Given the description of an element on the screen output the (x, y) to click on. 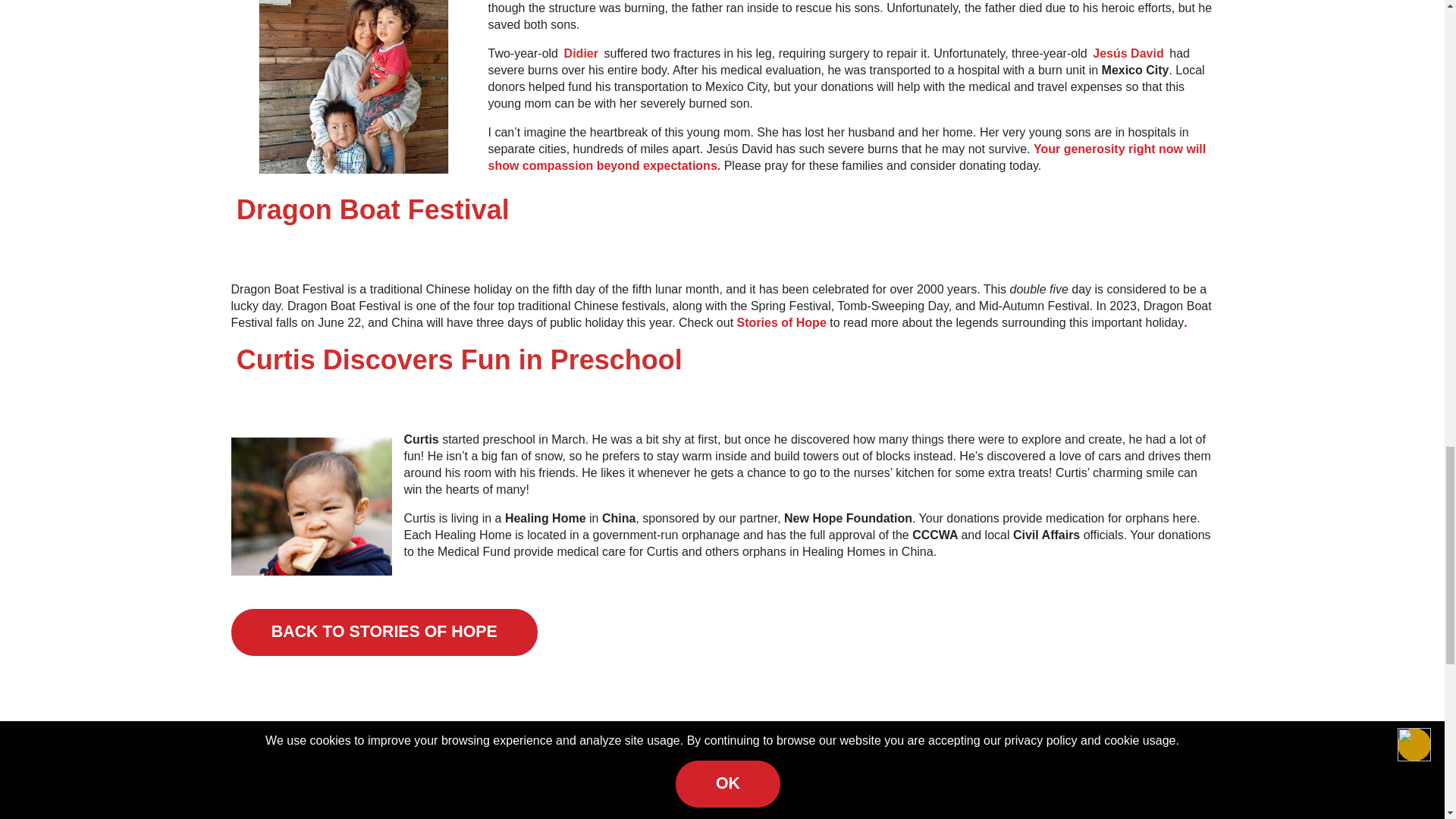
Stories of Hope (781, 322)
BACK TO STORIES OF HOPE (383, 632)
